Given the description of an element on the screen output the (x, y) to click on. 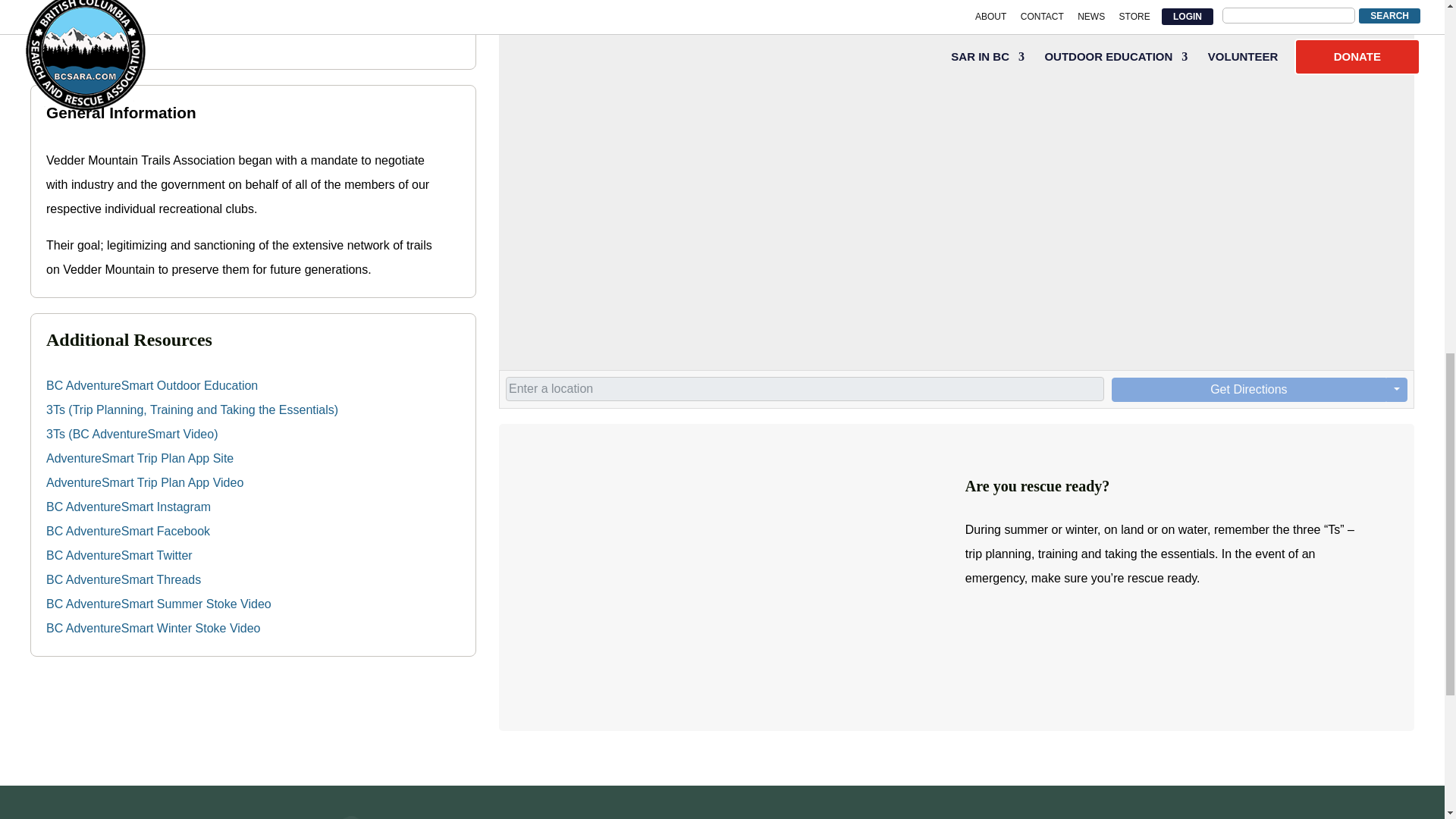
Fraser Valley (83, 41)
AdventureSmart Trip Plan App Video (144, 481)
BC AdventureSmart Twitter (119, 554)
BC AdventureSmart Outdoor Education (151, 385)
BC AdventureSmart Threads (123, 579)
BC AdventureSmart Instagram (128, 506)
AdventureSmart Trip Plan App Site (139, 458)
BC AdventureSmart Facebook (127, 530)
